Given the description of an element on the screen output the (x, y) to click on. 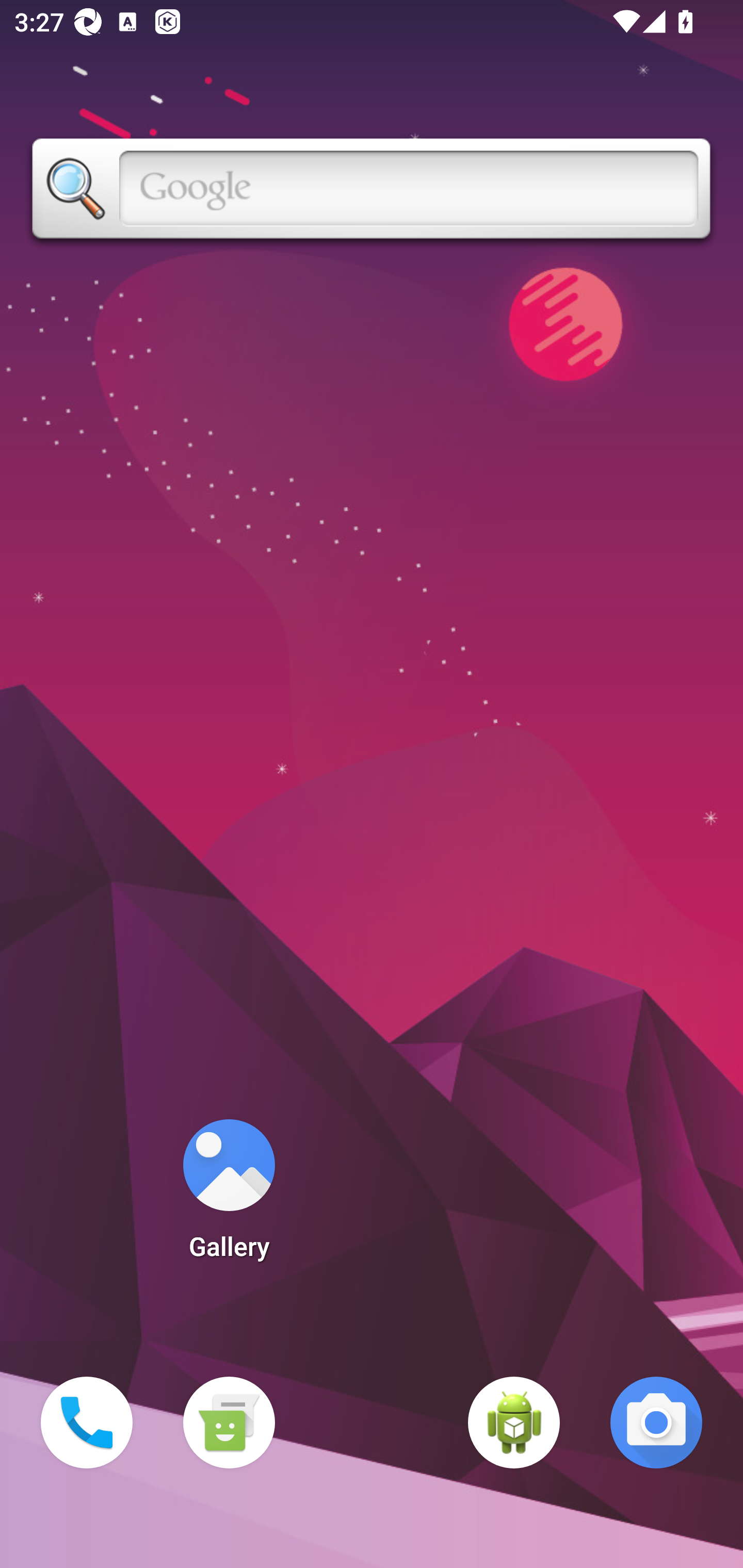
Gallery (228, 1195)
Phone (86, 1422)
Messaging (228, 1422)
WebView Browser Tester (513, 1422)
Camera (656, 1422)
